Given the description of an element on the screen output the (x, y) to click on. 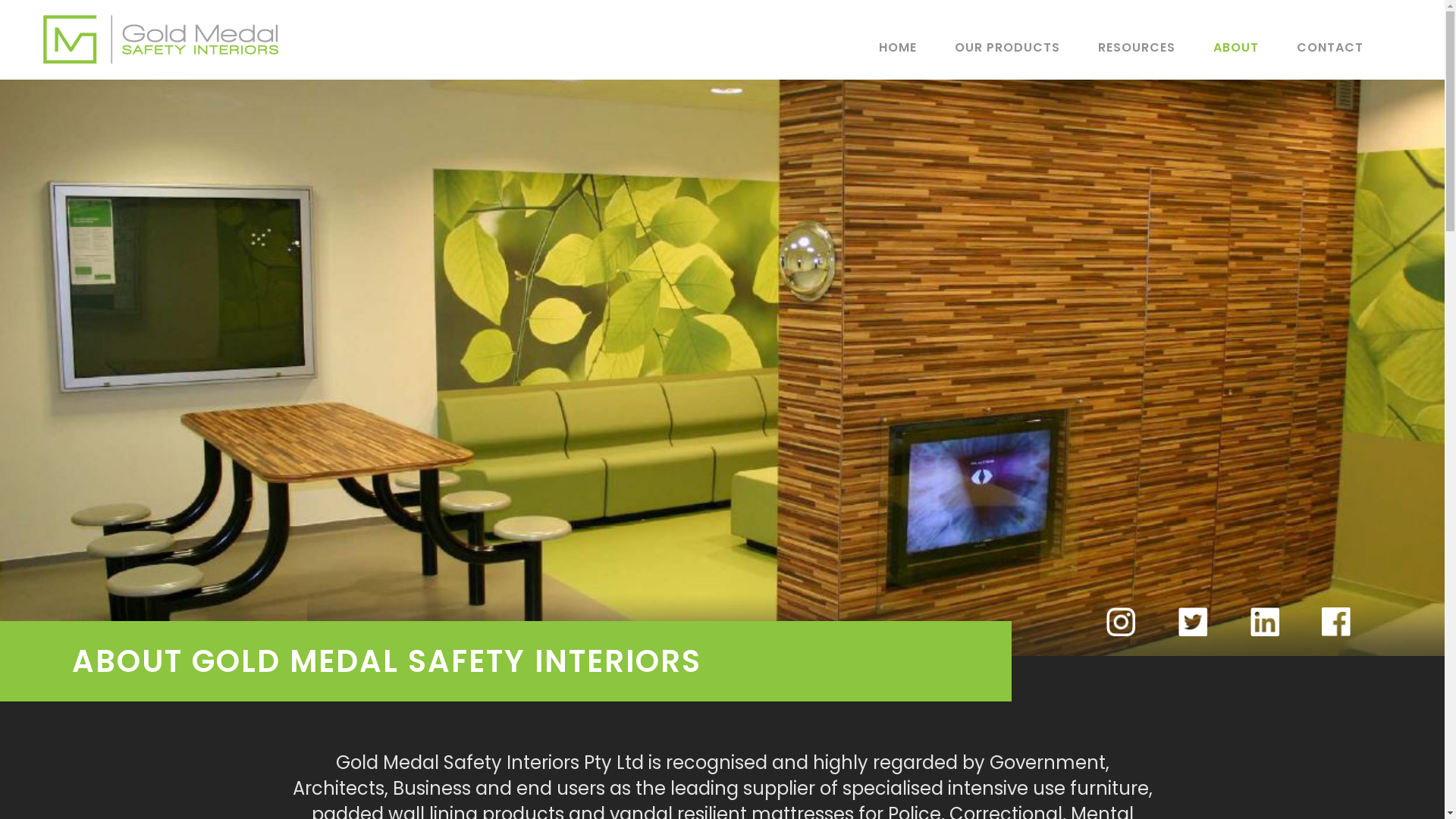
OUR PRODUCTS Element type: text (1026, 47)
CONTACT Element type: text (1348, 47)
RESOURCES Element type: text (1155, 47)
ABOUT Element type: text (1254, 47)
HOME Element type: text (916, 47)
